Given the description of an element on the screen output the (x, y) to click on. 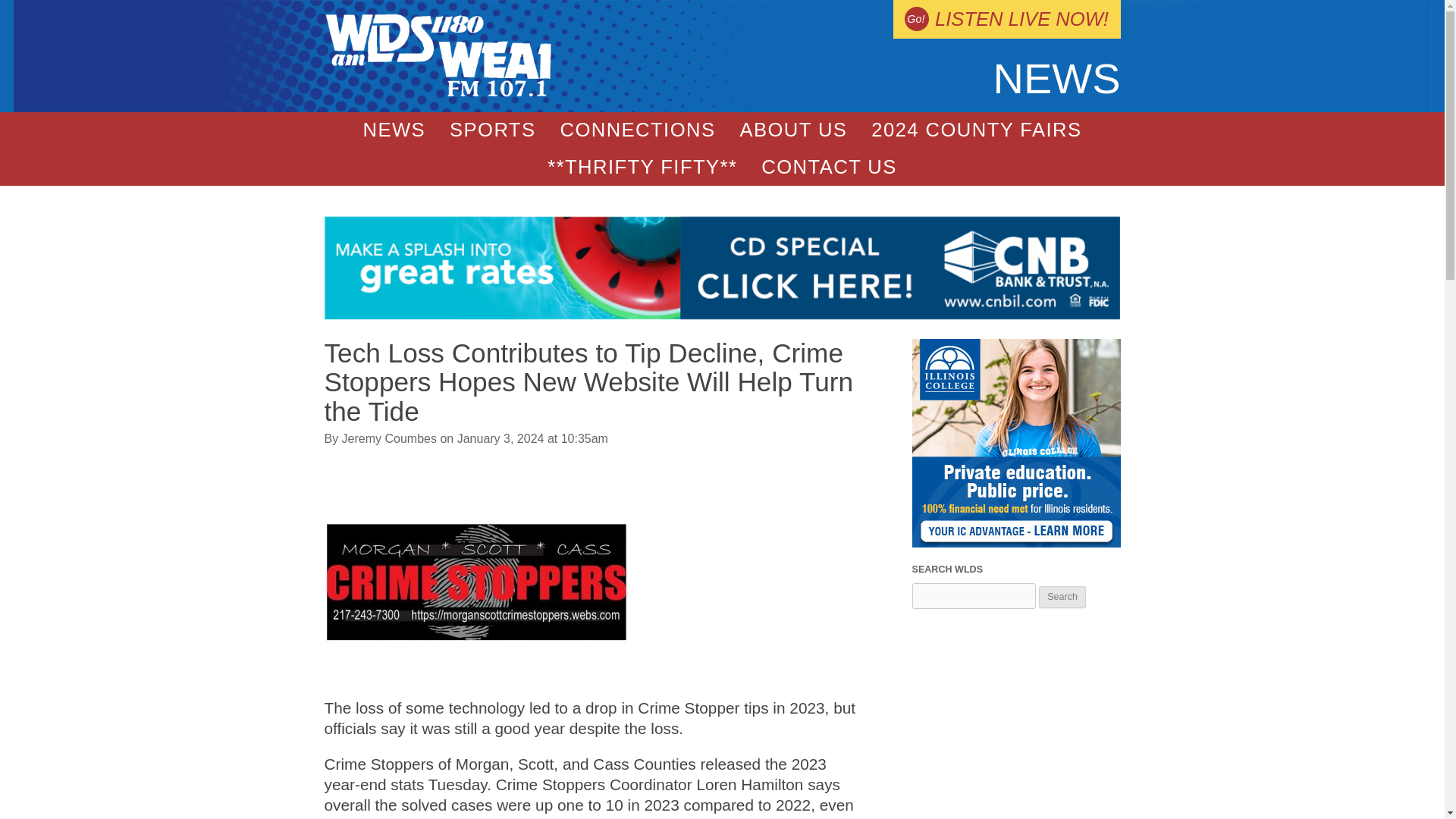
Search (1062, 597)
LISTEN LIVE NOW! (1006, 19)
2024 COUNTY FAIRS (976, 130)
WLDS (437, 92)
CONTACT US (828, 167)
Search (1062, 597)
